Given the description of an element on the screen output the (x, y) to click on. 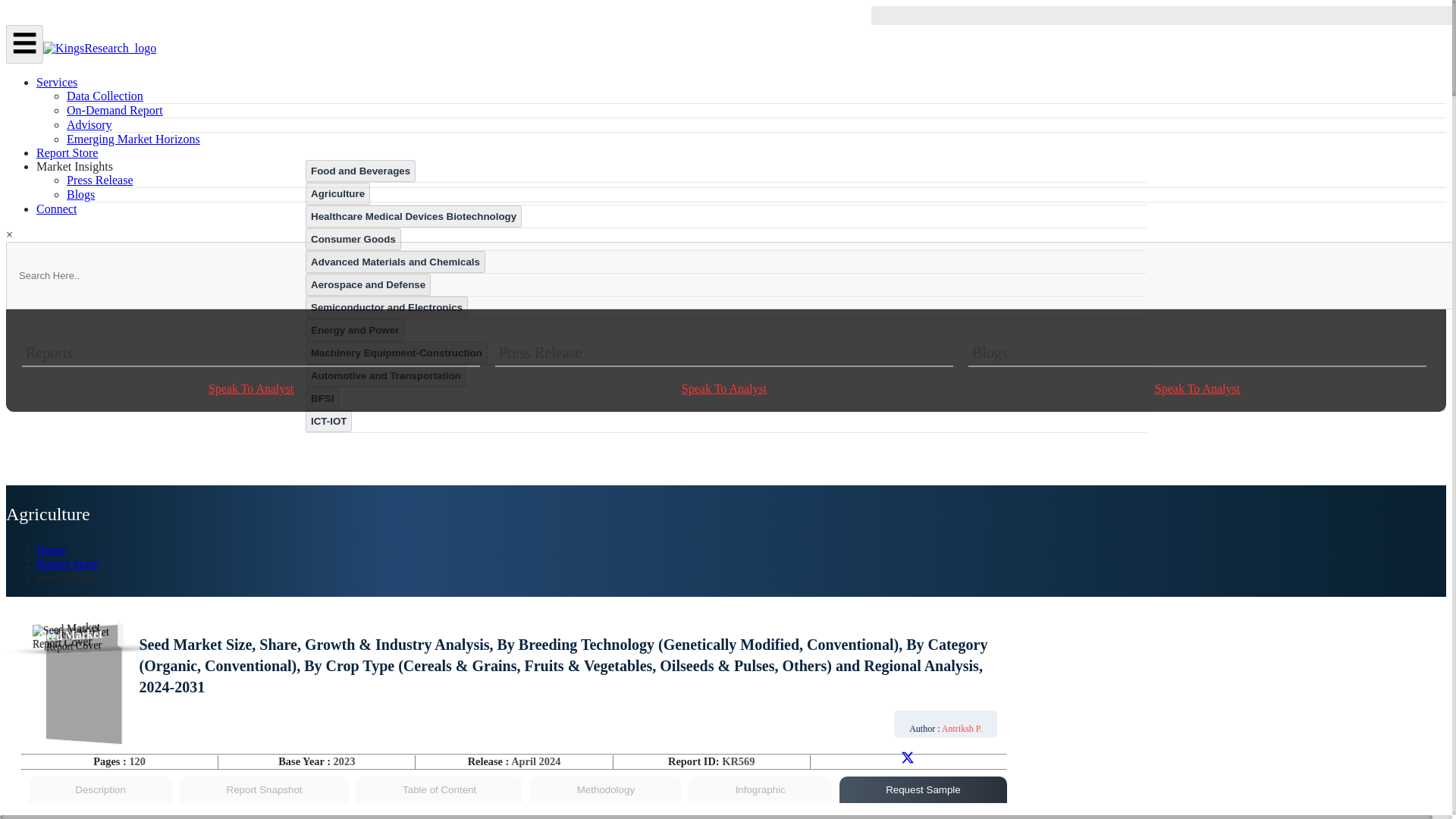
Data Collection (104, 95)
 888-328-2189 (1260, 15)
ICT-IOT (328, 421)
Semiconductor and Electronics (386, 307)
Consumer Goods (353, 237)
Healthcare Medical Devices Biotechnology (413, 216)
Advanced Materials and Chemicals (394, 260)
Services (56, 82)
Energy and Power (354, 328)
Blogs (80, 194)
Connect (56, 208)
Automotive and Transportation (385, 374)
Semiconductor and Electronics (386, 306)
Energy and Power (354, 330)
Automotive and Transportation (385, 375)
